Given the description of an element on the screen output the (x, y) to click on. 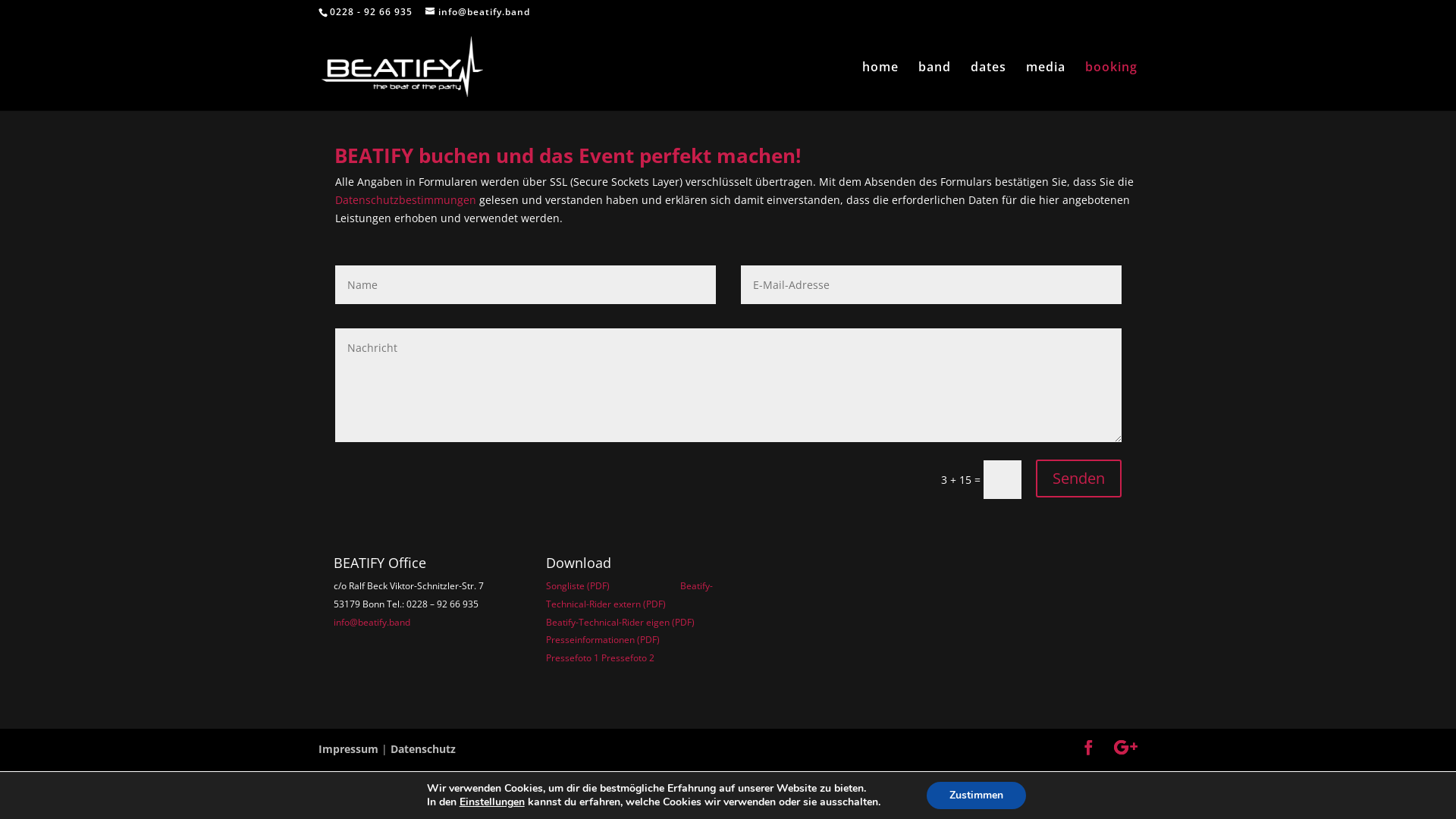
Pressefoto 2 Element type: text (627, 657)
Datenschutz Element type: text (422, 748)
band Element type: text (934, 79)
Presseinformationen (PDF) Element type: text (602, 639)
info@beatify.band Element type: text (477, 11)
booking Element type: text (1111, 79)
media Element type: text (1045, 79)
Pressefoto 1 Element type: text (572, 657)
Beatify-Technical-Rider extern (PDF) Element type: text (629, 594)
info@beatify.band Element type: text (371, 621)
home Element type: text (880, 79)
Beatify-Technical-Rider eigen (PDF) Element type: text (620, 630)
Senden Element type: text (1078, 478)
dates Element type: text (988, 79)
Zustimmen Element type: text (976, 795)
Datenschutzbestimmungen Element type: text (405, 199)
Impressum Element type: text (348, 748)
Songliste (PDF) Element type: text (577, 585)
